Given the description of an element on the screen output the (x, y) to click on. 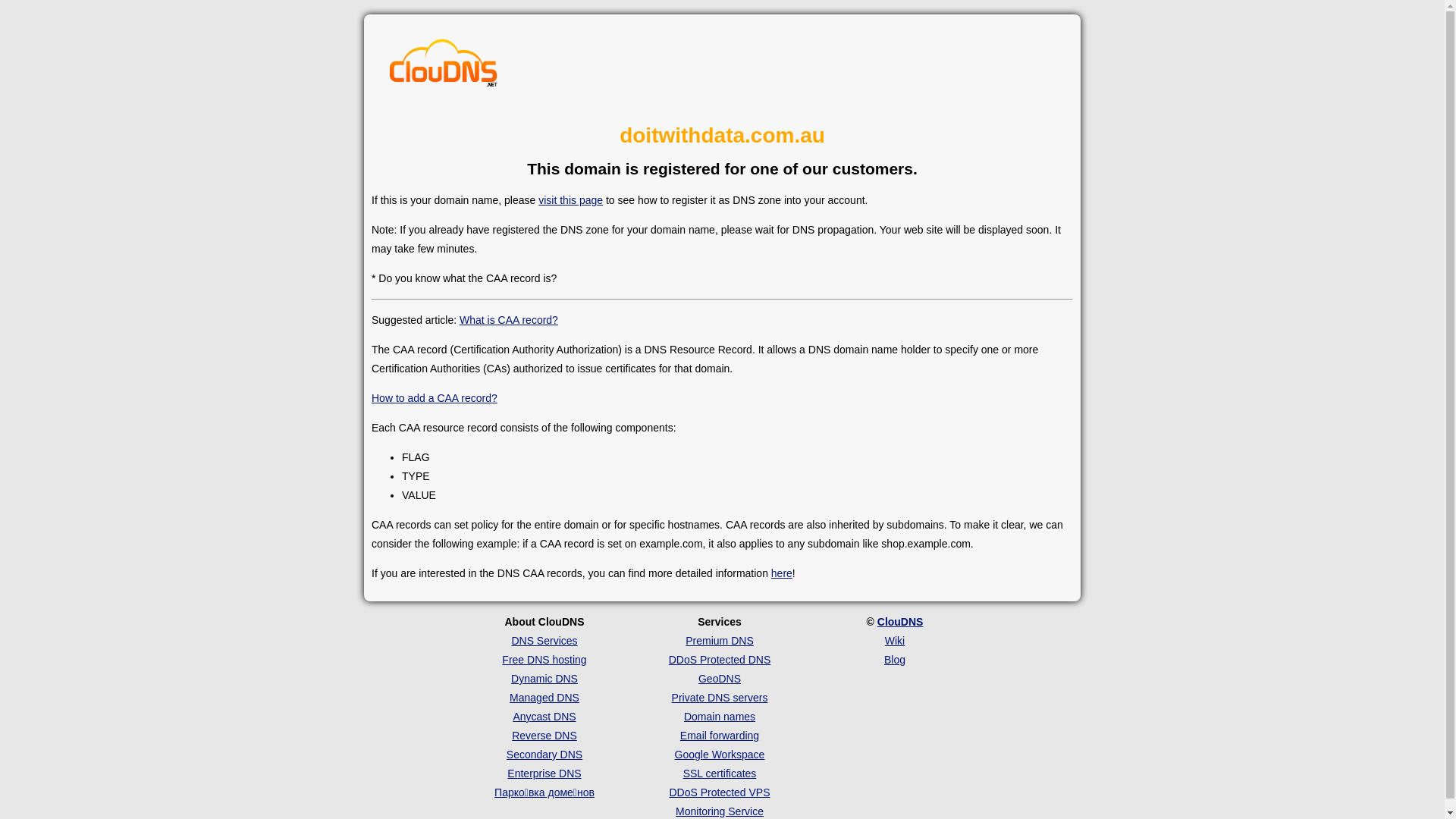
Private DNS servers Element type: text (719, 697)
DNS Services Element type: text (544, 640)
Monitoring Service Element type: text (719, 811)
Free DNS hosting Element type: text (544, 659)
Enterprise DNS Element type: text (543, 773)
What is CAA record? Element type: text (508, 319)
Anycast DNS Element type: text (543, 716)
Premium DNS Element type: text (719, 640)
Cloud DNS Element type: hover (443, 66)
Domain names Element type: text (719, 716)
Blog Element type: text (894, 659)
Google Workspace Element type: text (719, 754)
visit this page Element type: text (570, 200)
GeoDNS Element type: text (719, 678)
DDoS Protected DNS Element type: text (719, 659)
Email forwarding Element type: text (719, 735)
How to add a CAA record? Element type: text (434, 398)
Dynamic DNS Element type: text (544, 678)
ClouDNS Element type: text (900, 621)
Reverse DNS Element type: text (544, 735)
Secondary DNS Element type: text (544, 754)
SSL certificates Element type: text (719, 773)
Managed DNS Element type: text (544, 697)
DDoS Protected VPS Element type: text (718, 792)
Wiki Element type: text (894, 640)
here Element type: text (781, 573)
